Given the description of an element on the screen output the (x, y) to click on. 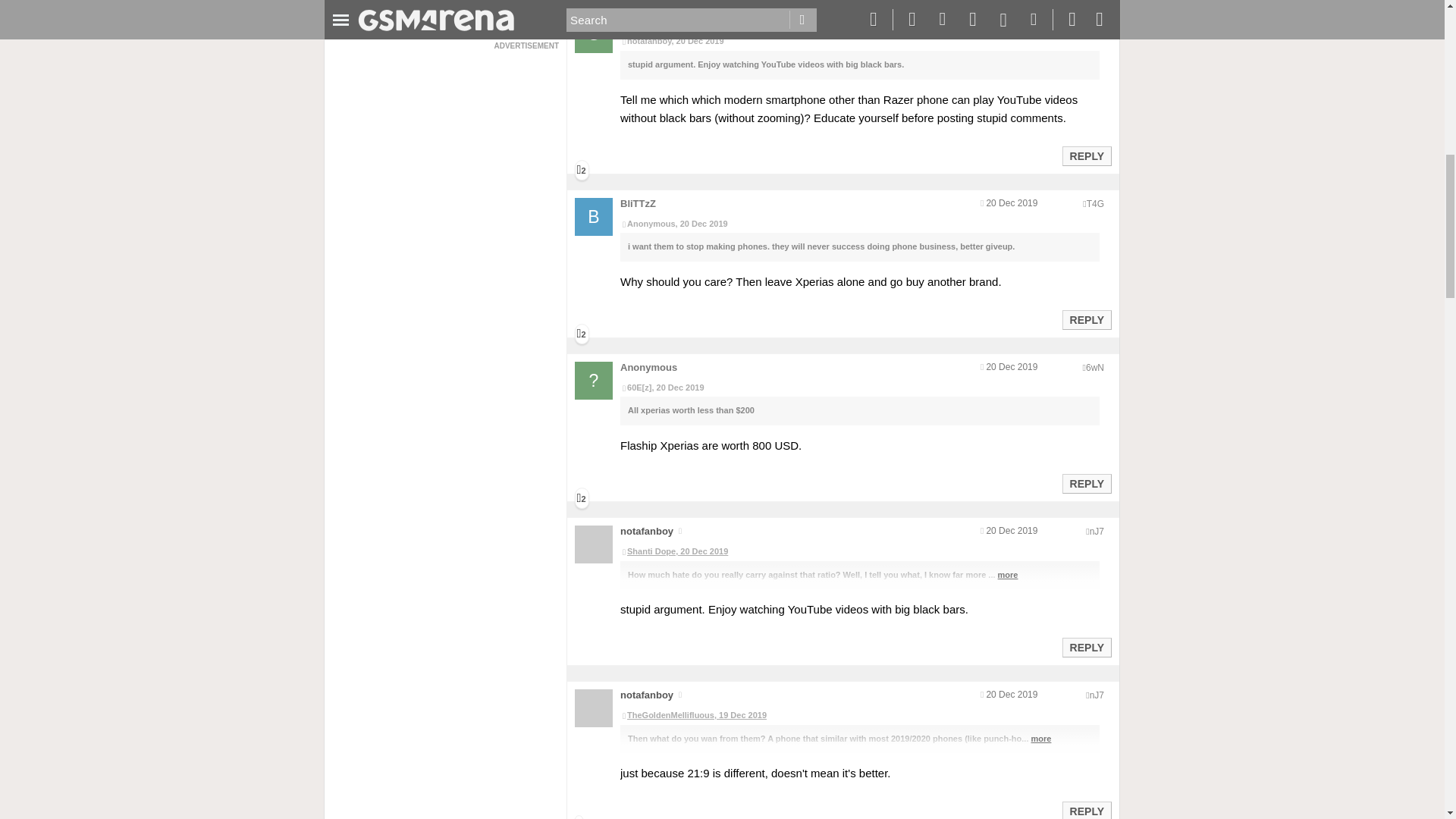
Reply to this post (1086, 811)
Encoded anonymized location (1096, 531)
Encoded anonymized location (1094, 204)
Reply to this post (1086, 483)
Reply to this post (1086, 319)
Encoded anonymized location (1096, 695)
Reply to this post (1086, 155)
Reply to this post (1086, 647)
Encoded anonymized location (1094, 367)
Encoded anonymized location (1095, 20)
